Given the description of an element on the screen output the (x, y) to click on. 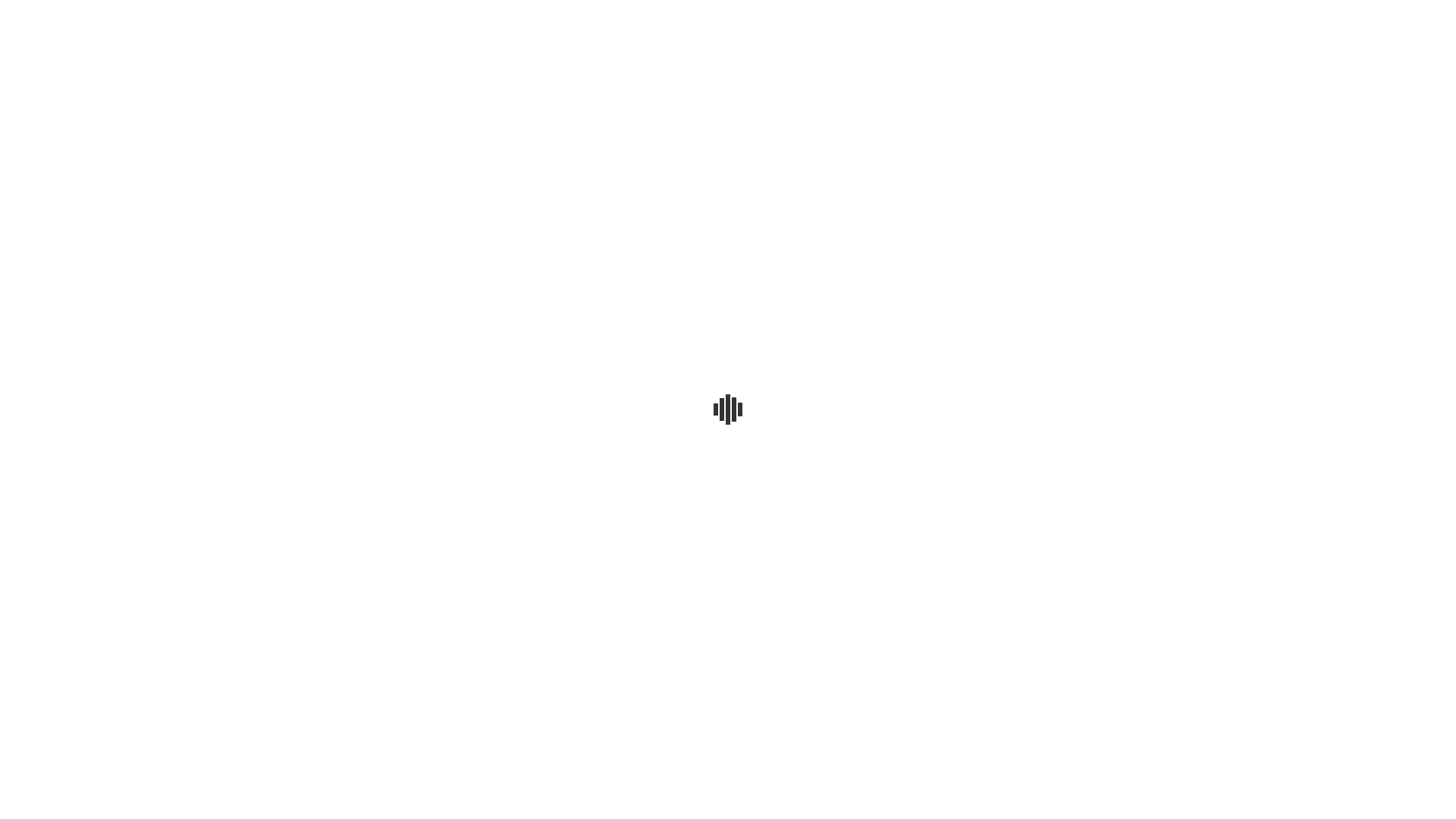
Goroda.by Element type: text (1130, 17)
Advertisement Element type: hover (728, 206)
